Given the description of an element on the screen output the (x, y) to click on. 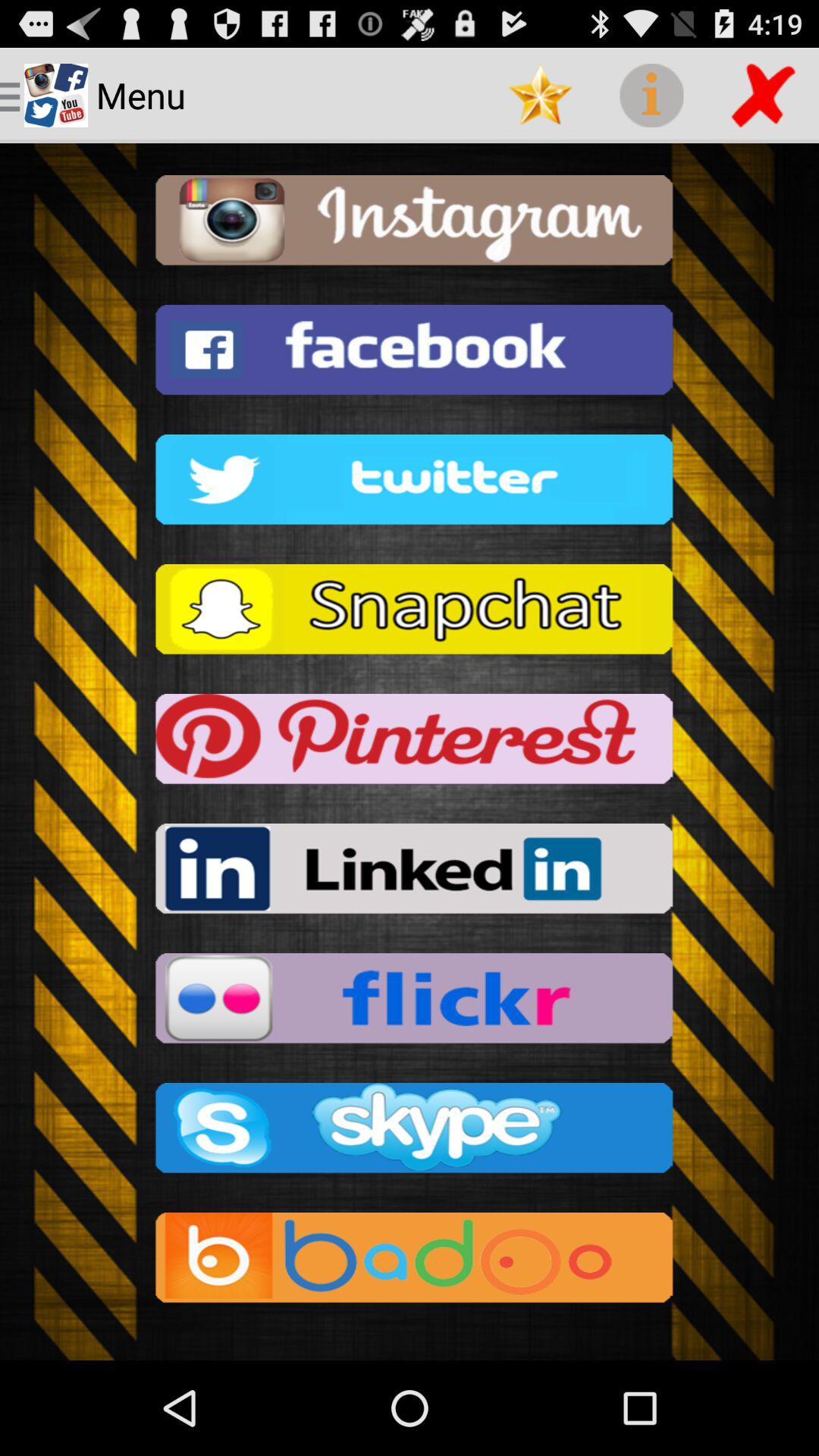
open pinterest (409, 743)
